Given the description of an element on the screen output the (x, y) to click on. 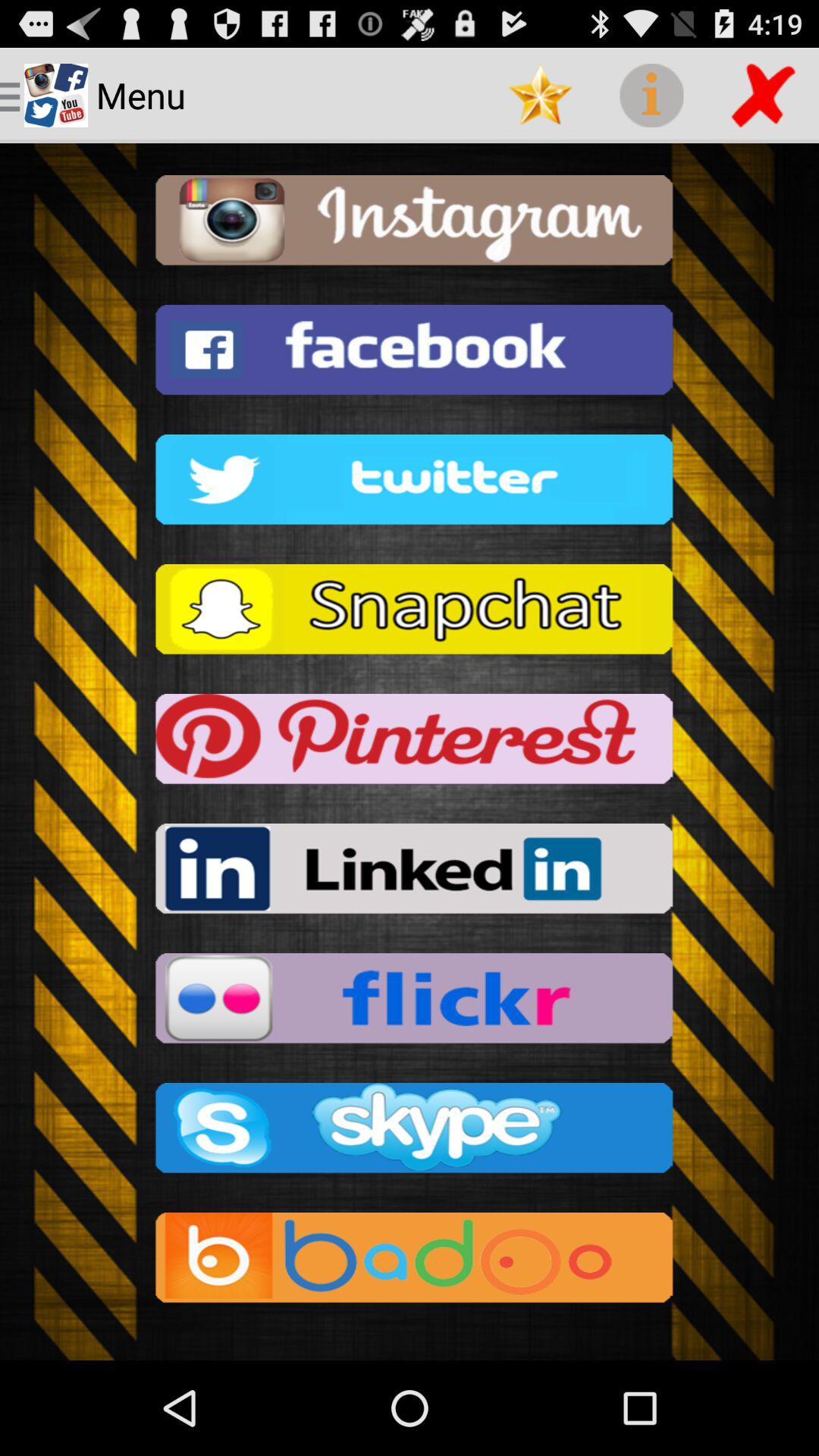
open pinterest (409, 743)
